Given the description of an element on the screen output the (x, y) to click on. 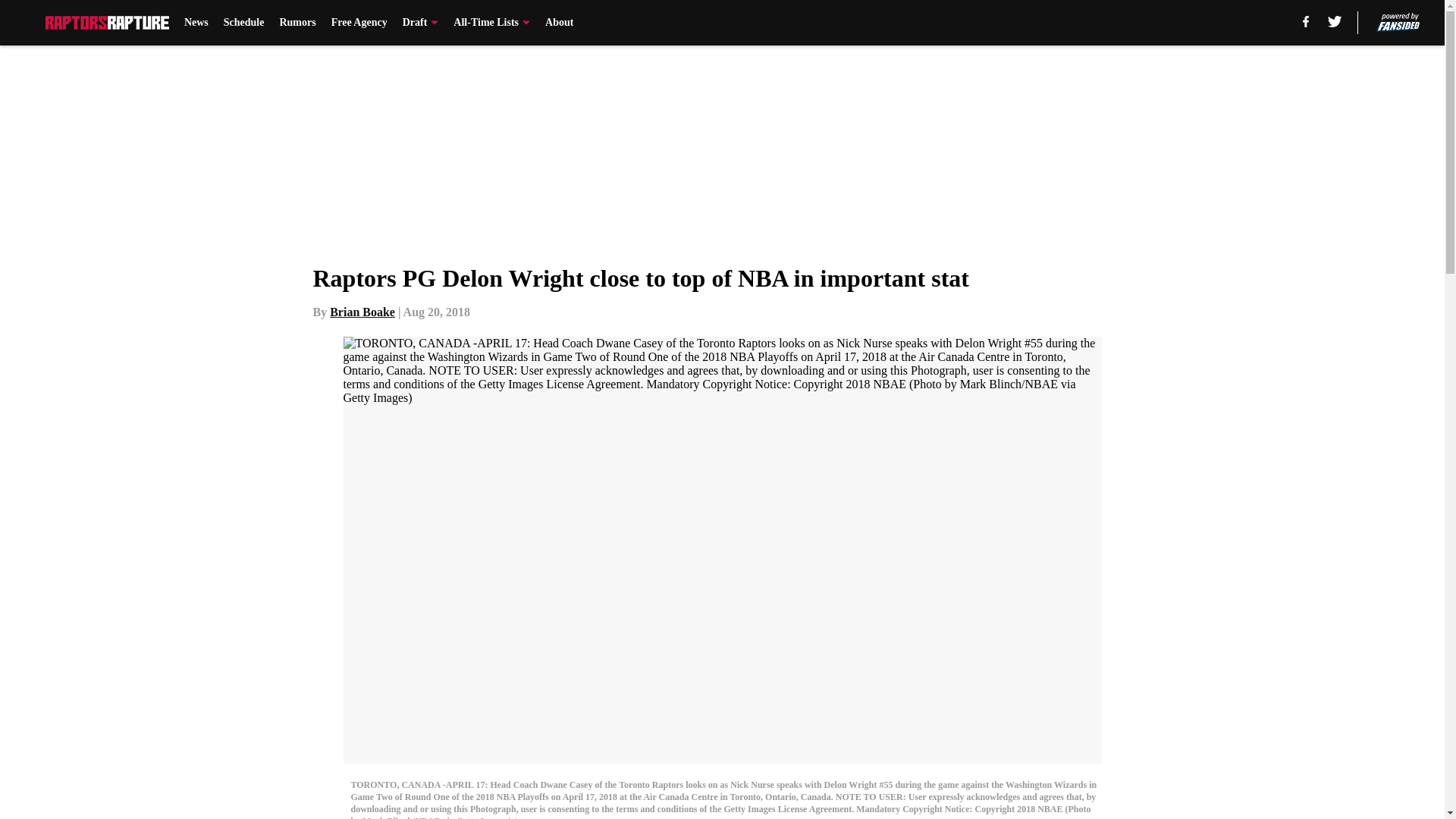
Brian Boake (362, 311)
Draft (421, 22)
All-Time Lists (490, 22)
About (558, 22)
Rumors (297, 22)
Free Agency (359, 22)
Schedule (244, 22)
News (196, 22)
